Given the description of an element on the screen output the (x, y) to click on. 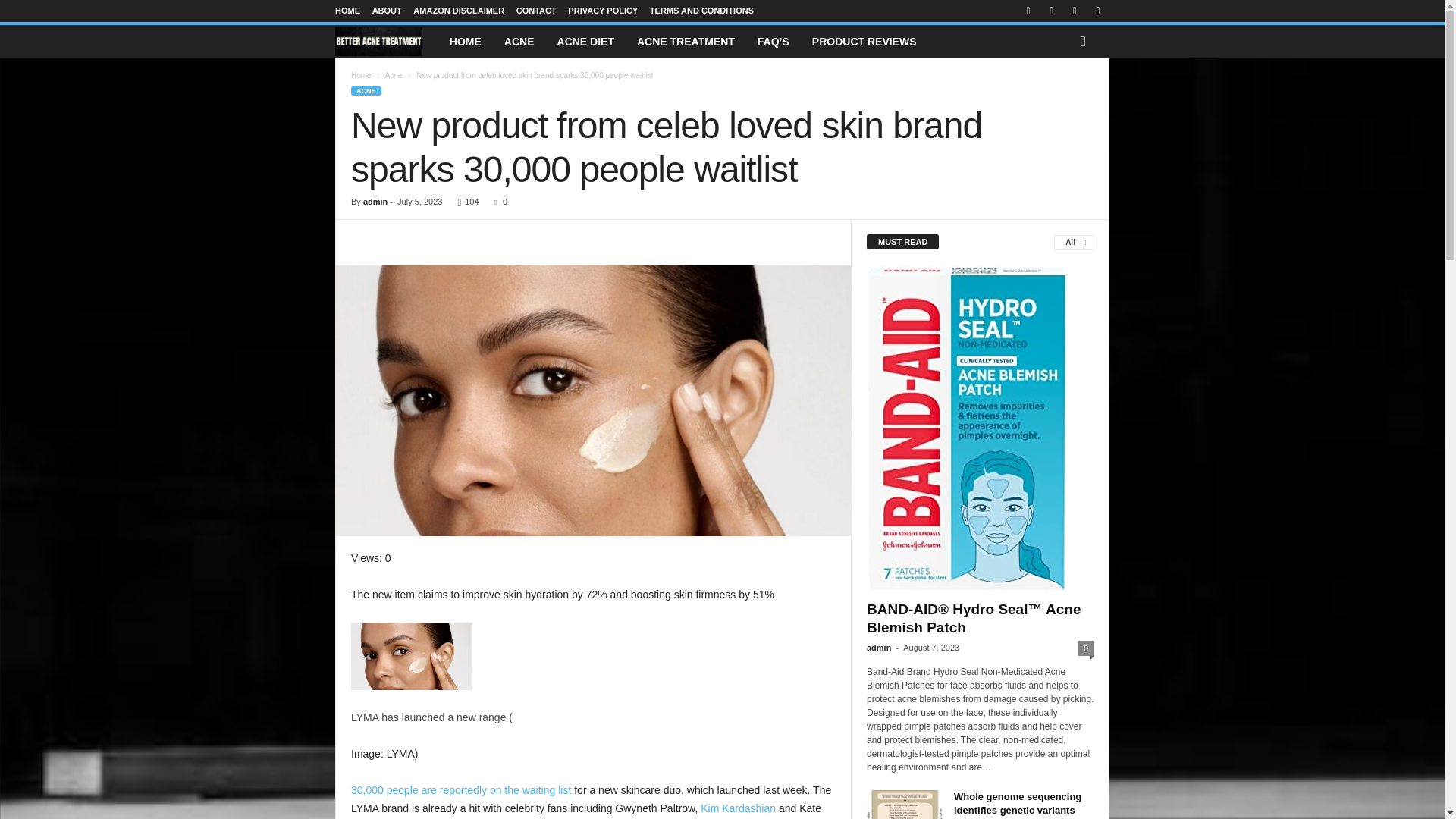
Home (360, 75)
admin (374, 201)
HOME (346, 10)
ACNE TREATMENT (685, 41)
HOME (465, 41)
View all posts in Acne (394, 75)
AMAZON DISCLAIMER (458, 10)
TERMS AND CONDITIONS (701, 10)
ACNE (519, 41)
PRODUCT REVIEWS (864, 41)
